Given the description of an element on the screen output the (x, y) to click on. 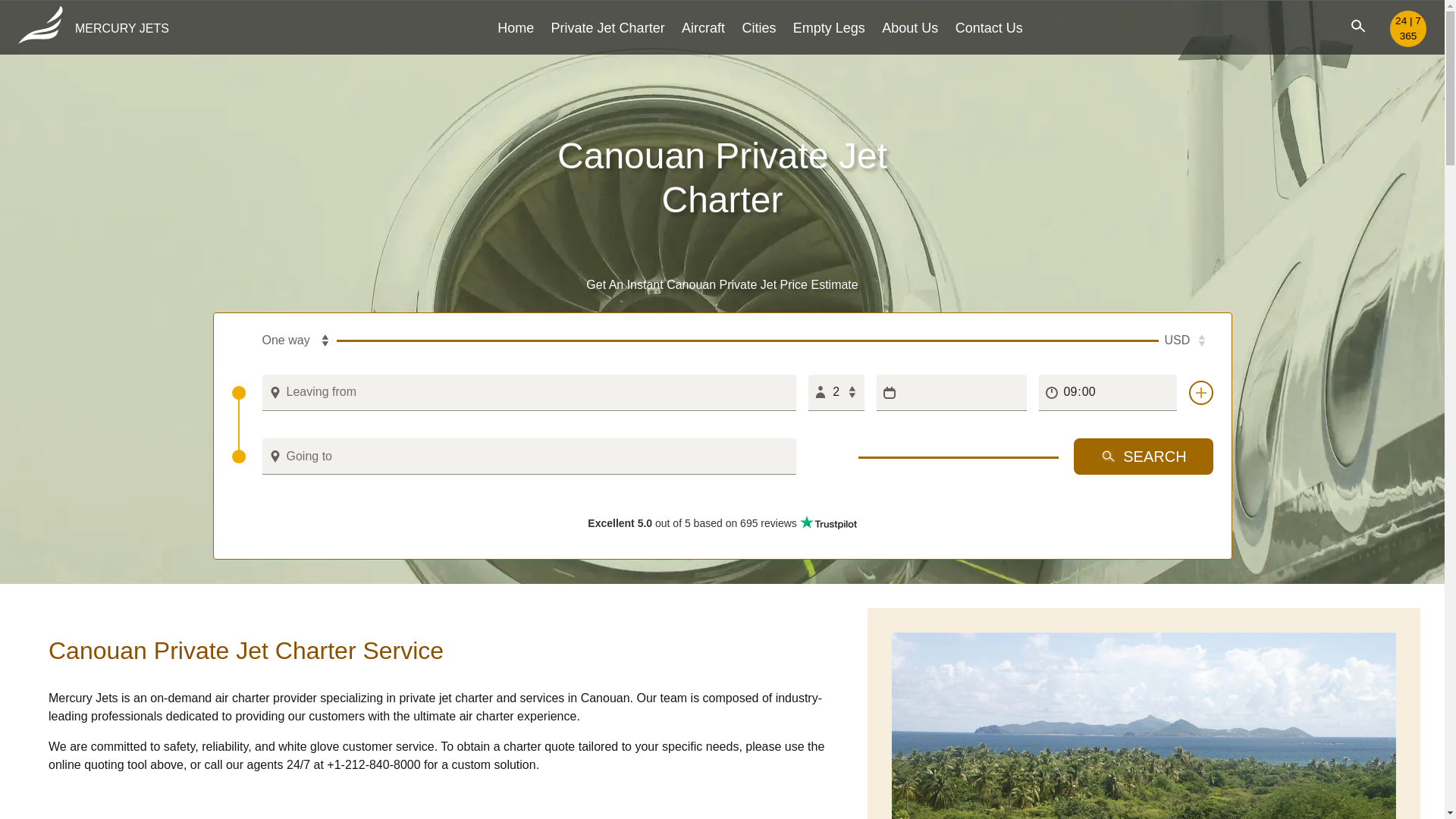
Cities (758, 27)
SEARCH (1143, 456)
MERCURY JETS (92, 28)
About Us (909, 27)
Excellent 5.0 out of 5 based on 695 reviews (722, 522)
Empty Legs (828, 27)
Home (515, 27)
Private Jet Charter (608, 27)
Aircraft (703, 27)
Contact Us (989, 27)
09:00 (1107, 392)
